Given the description of an element on the screen output the (x, y) to click on. 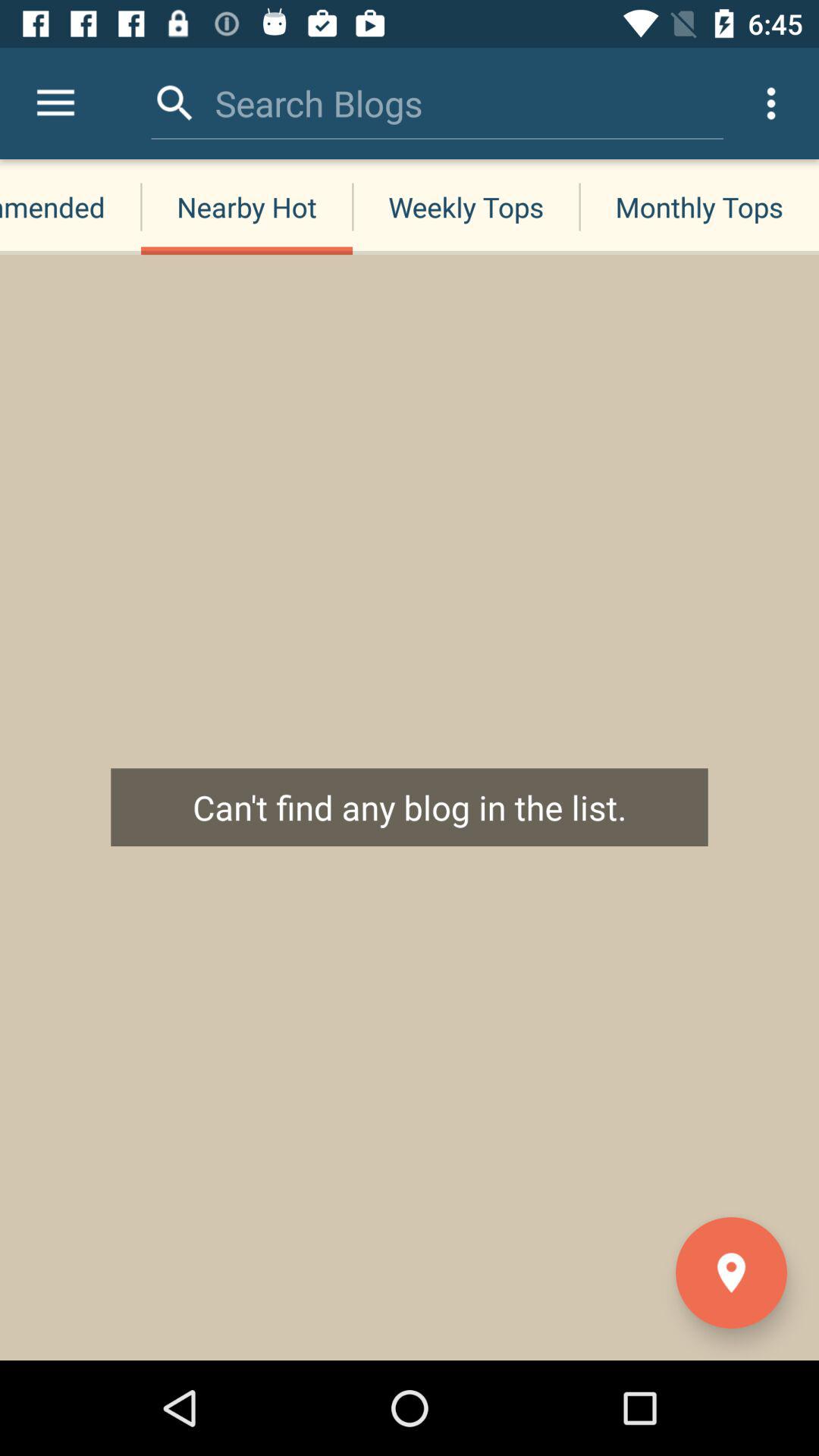
open the item to the right of the nearby hot icon (465, 206)
